Given the description of an element on the screen output the (x, y) to click on. 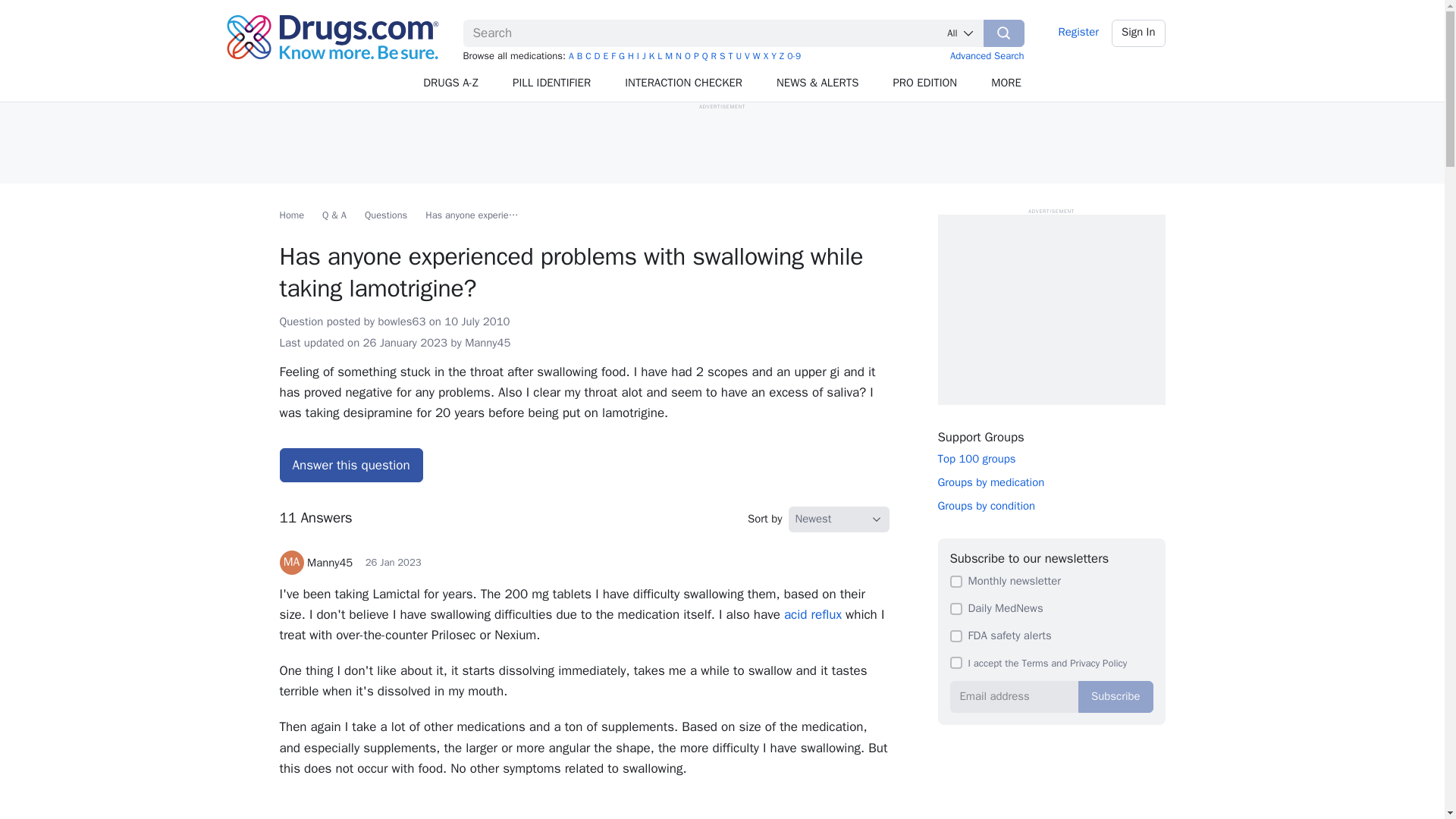
26 January 2023 12:21pm (393, 562)
DRUGS A-Z (450, 83)
0-9 (793, 55)
10 July 2010 8:37am (476, 321)
26 January 2023 10:58pm (404, 342)
PILL IDENTIFIER (551, 83)
Register (1078, 32)
